Given the description of an element on the screen output the (x, y) to click on. 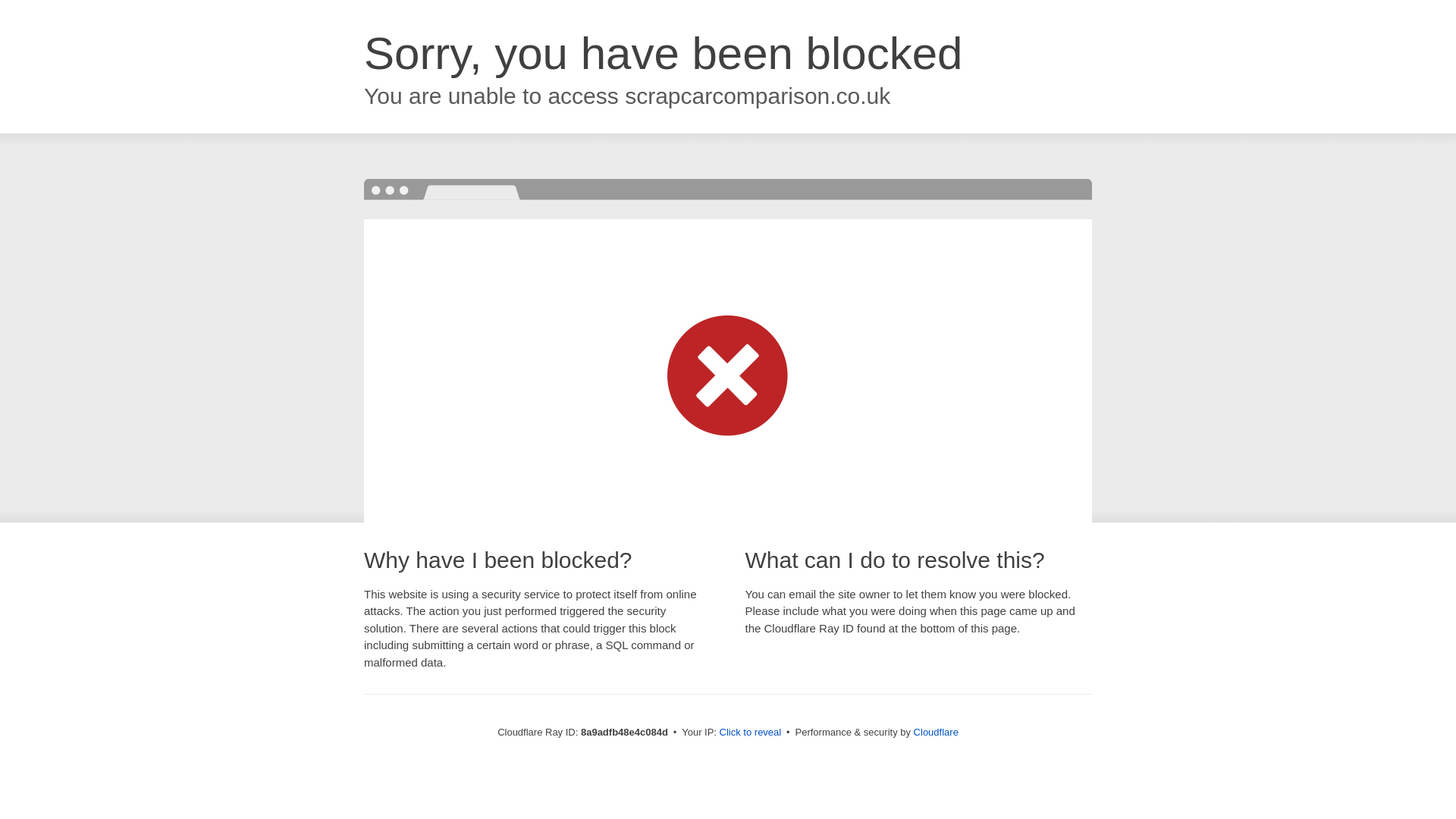
Cloudflare (936, 731)
Click to reveal (750, 732)
